Given the description of an element on the screen output the (x, y) to click on. 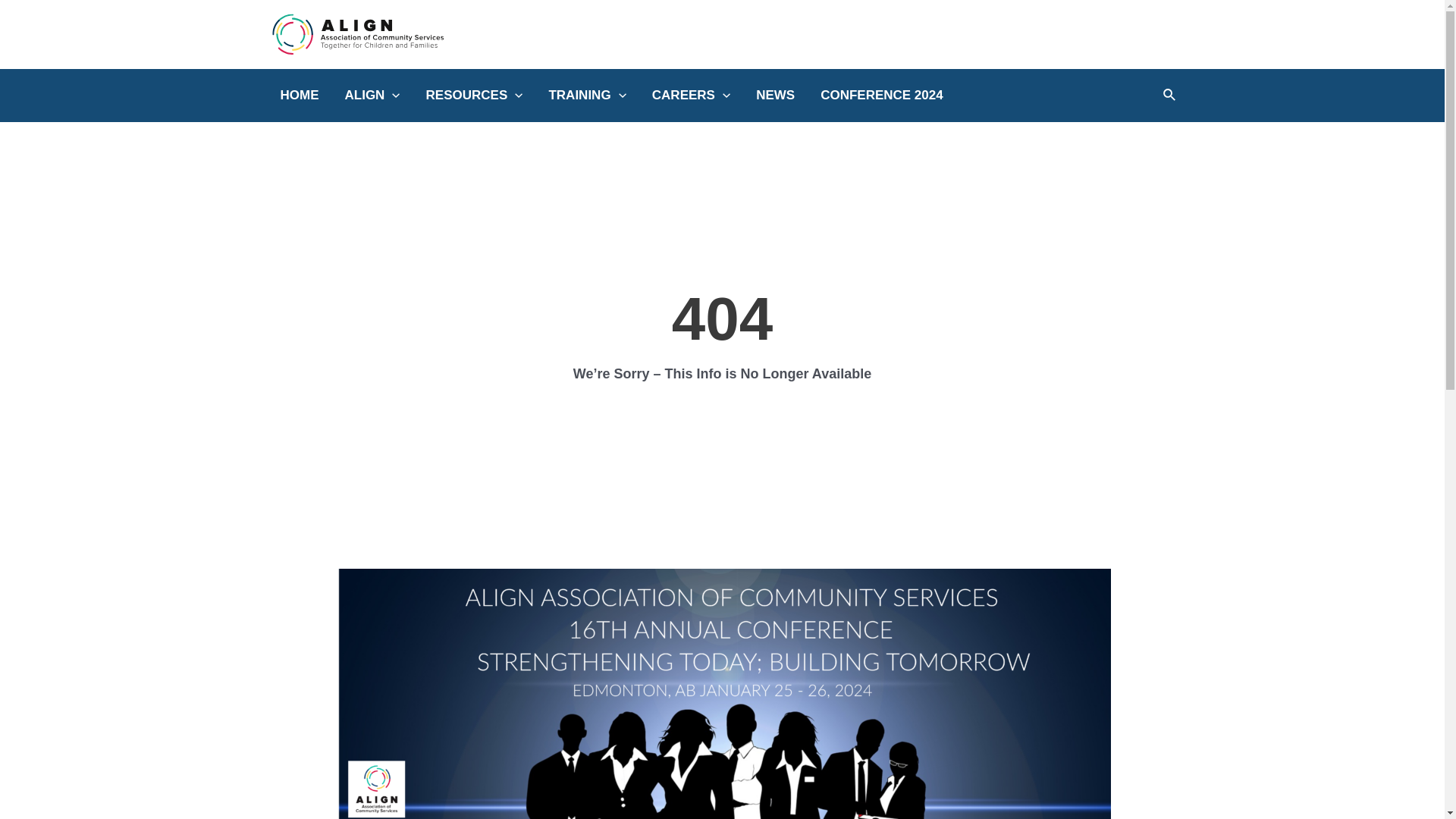
TRAINING Element type: text (586, 95)
HOME Element type: text (298, 95)
ALIGN Element type: text (372, 95)
NEWS Element type: text (775, 95)
CAREERS Element type: text (691, 95)
RESOURCES Element type: text (474, 95)
CONFERENCE 2024 Element type: text (881, 95)
